Given the description of an element on the screen output the (x, y) to click on. 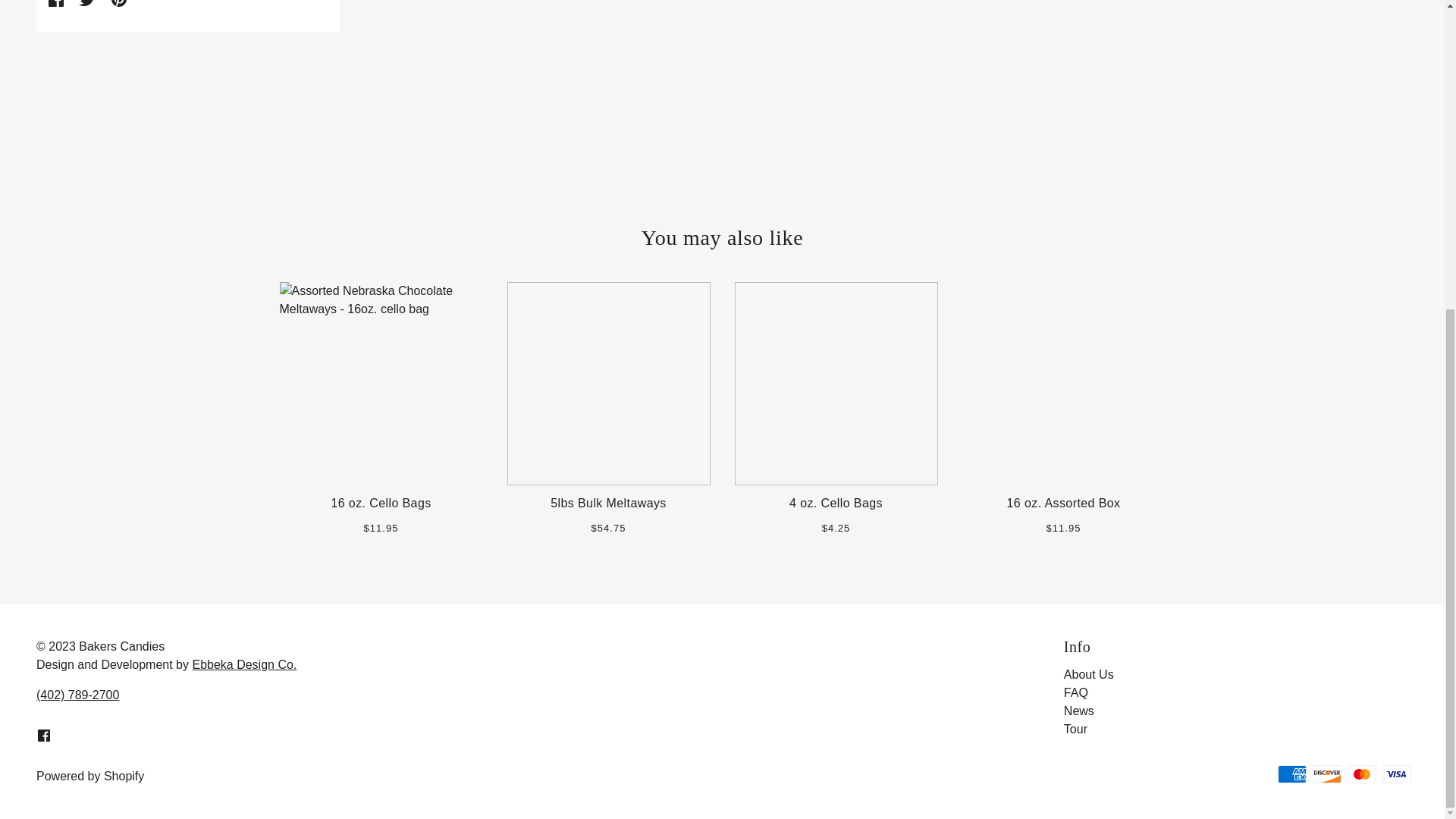
American Express (1292, 773)
FAQ (1075, 692)
tel:4027892700 (77, 694)
About Us (1088, 674)
Tour (1075, 728)
Visa (1395, 773)
News (1079, 710)
Discover (1326, 773)
Mastercard (1361, 773)
